Given the description of an element on the screen output the (x, y) to click on. 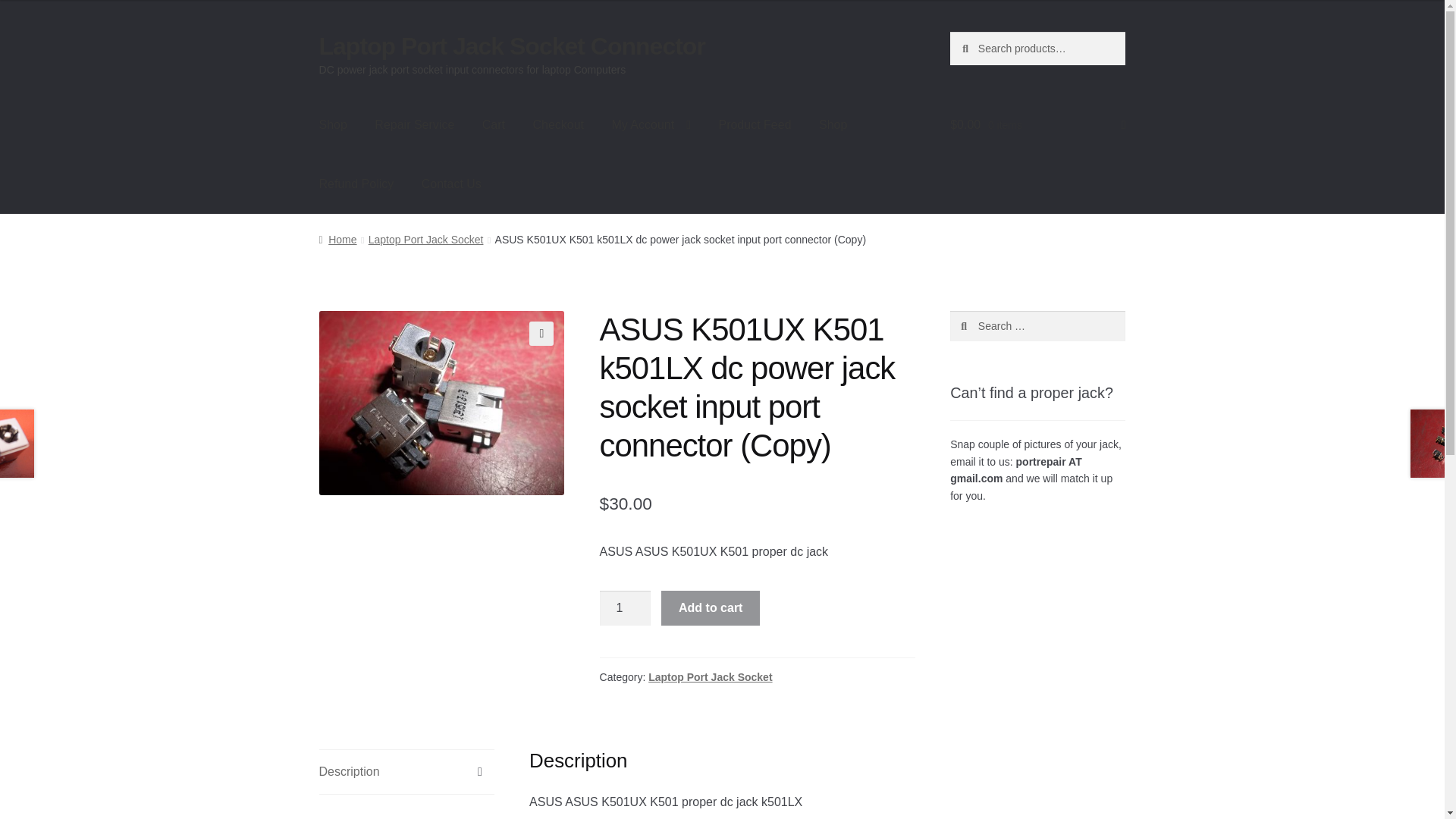
Add to cart (710, 607)
Home (337, 239)
Contact Us (451, 183)
Laptop Port Jack Socket (709, 676)
1 (624, 607)
View your shopping cart (1037, 124)
Qty (624, 607)
Repair Service (413, 124)
Description (406, 771)
